Given the description of an element on the screen output the (x, y) to click on. 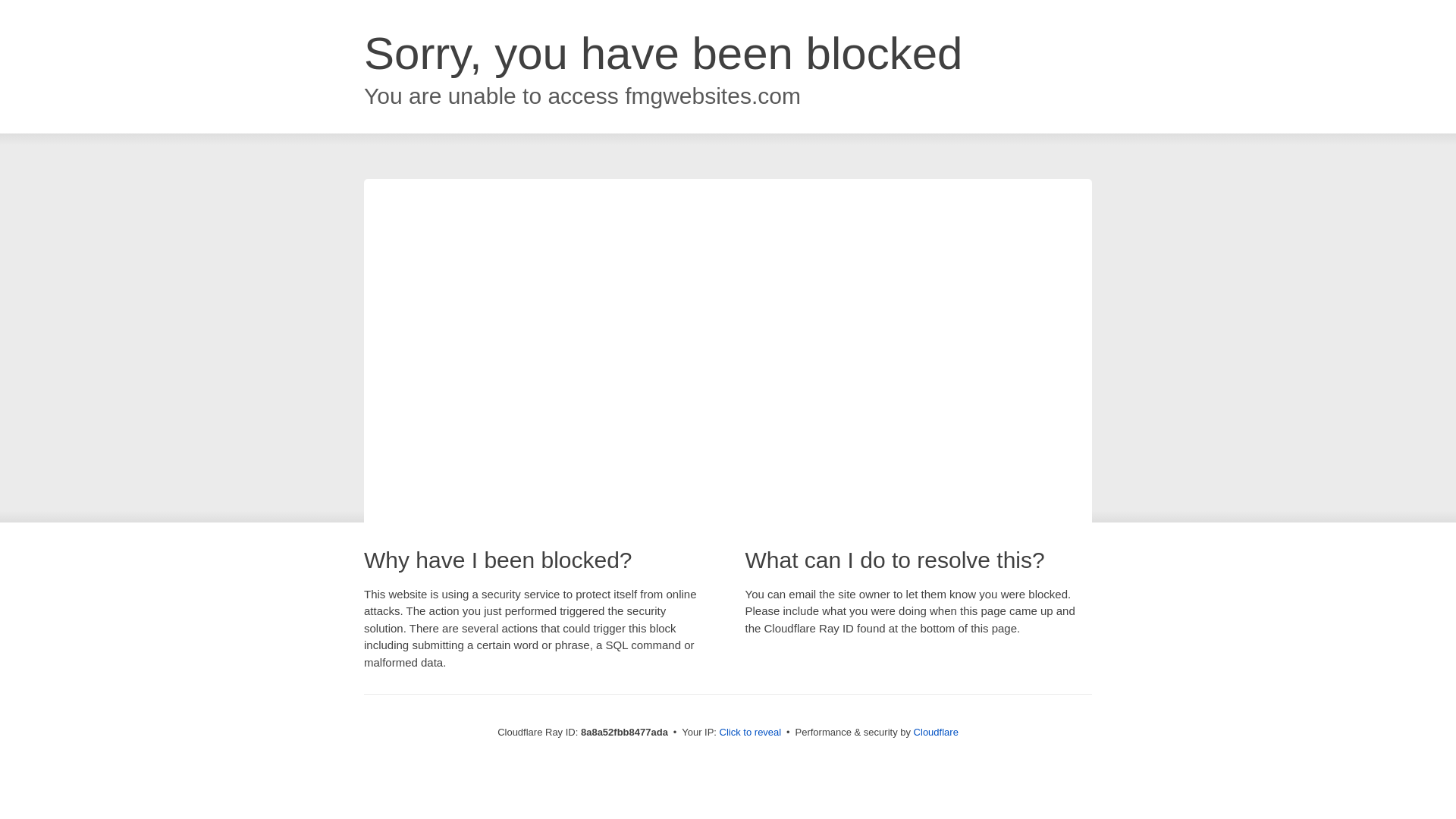
Click to reveal (750, 732)
Cloudflare (936, 731)
